Given the description of an element on the screen output the (x, y) to click on. 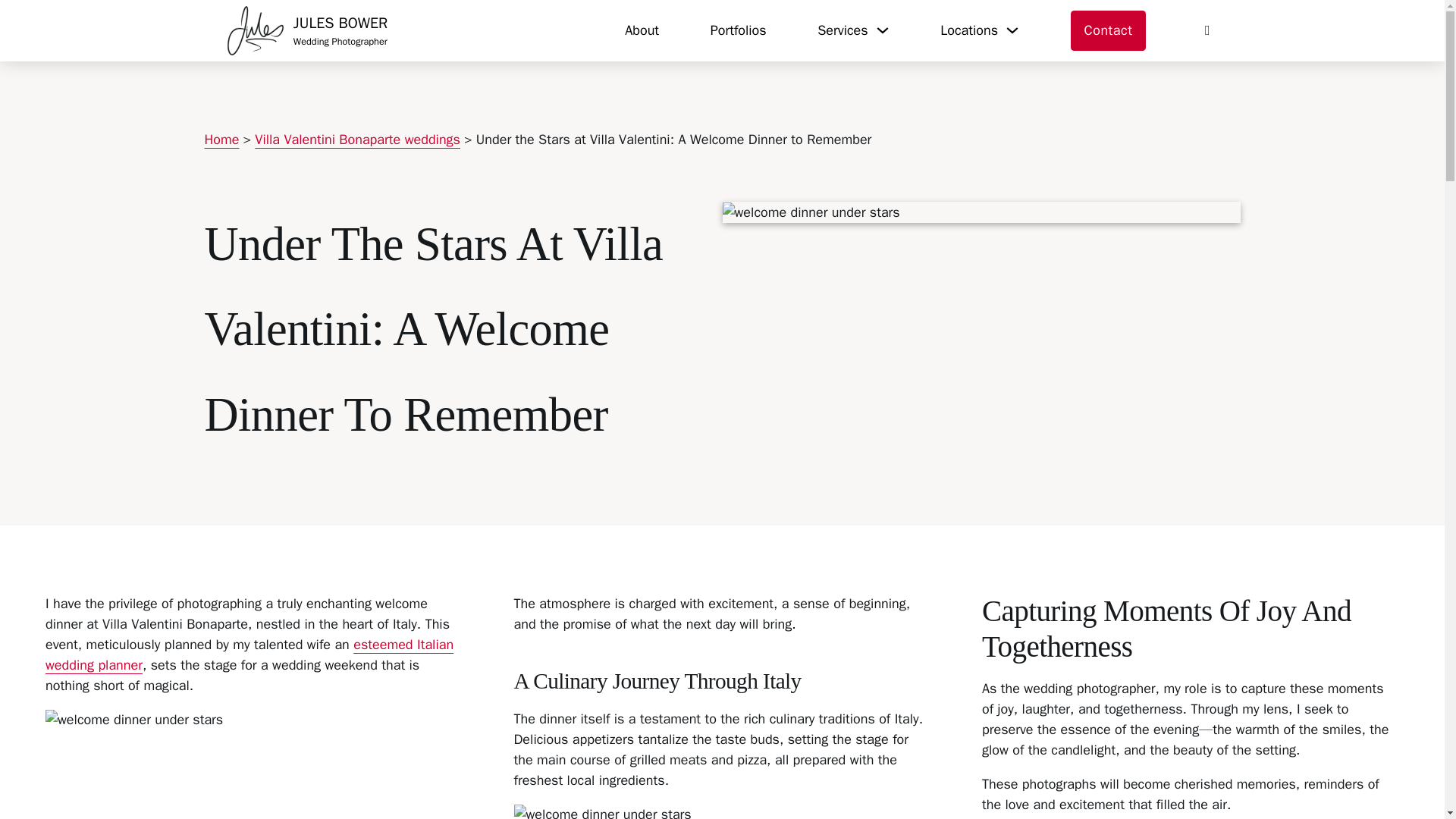
Home (222, 139)
Contact (1108, 30)
About (641, 30)
Portfolios (738, 30)
esteemed Italian wedding planner (307, 30)
Villa Valentini Bonaparte weddings (248, 654)
